Given the description of an element on the screen output the (x, y) to click on. 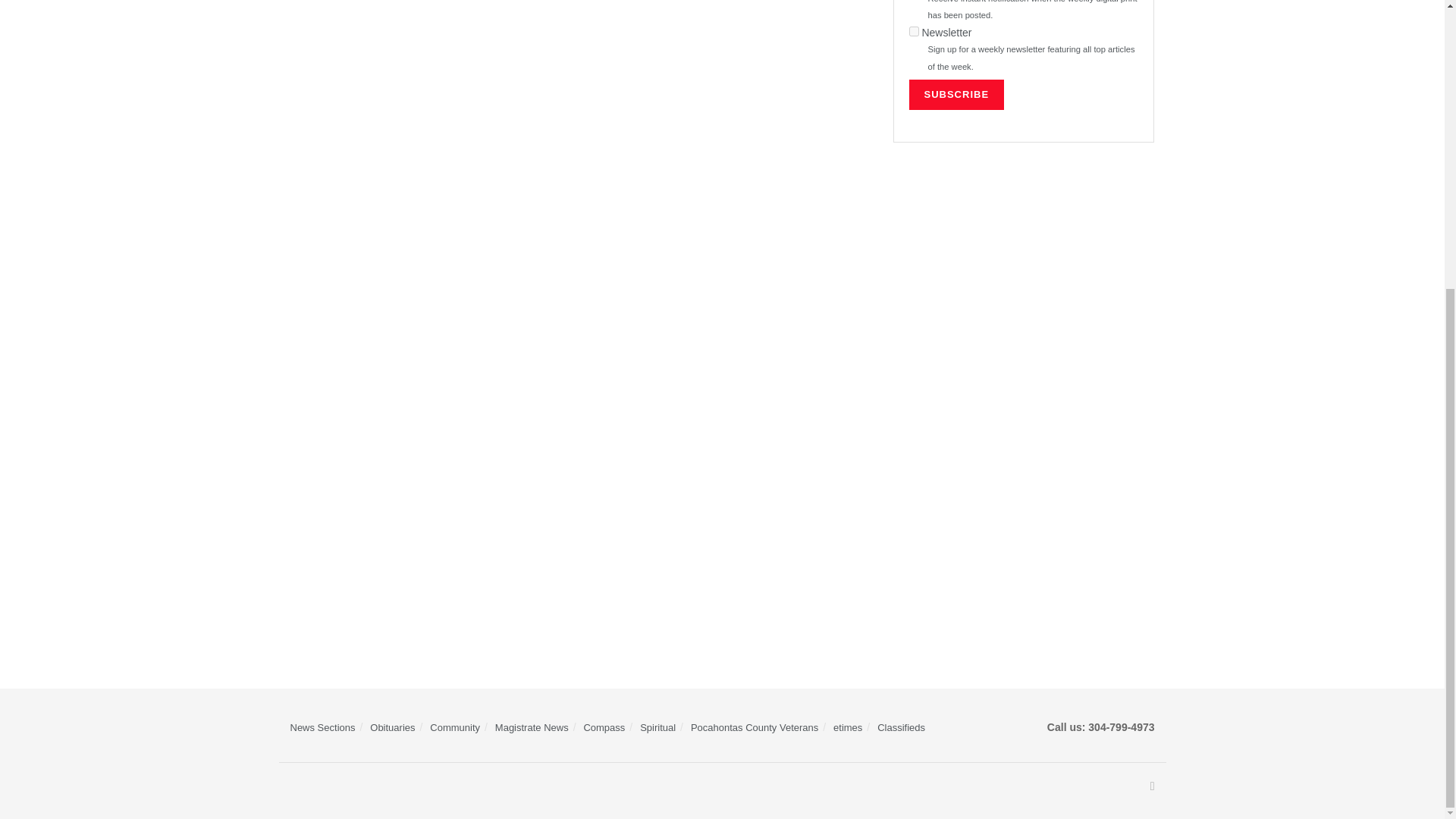
Subscribe (956, 94)
2 (913, 31)
